Given the description of an element on the screen output the (x, y) to click on. 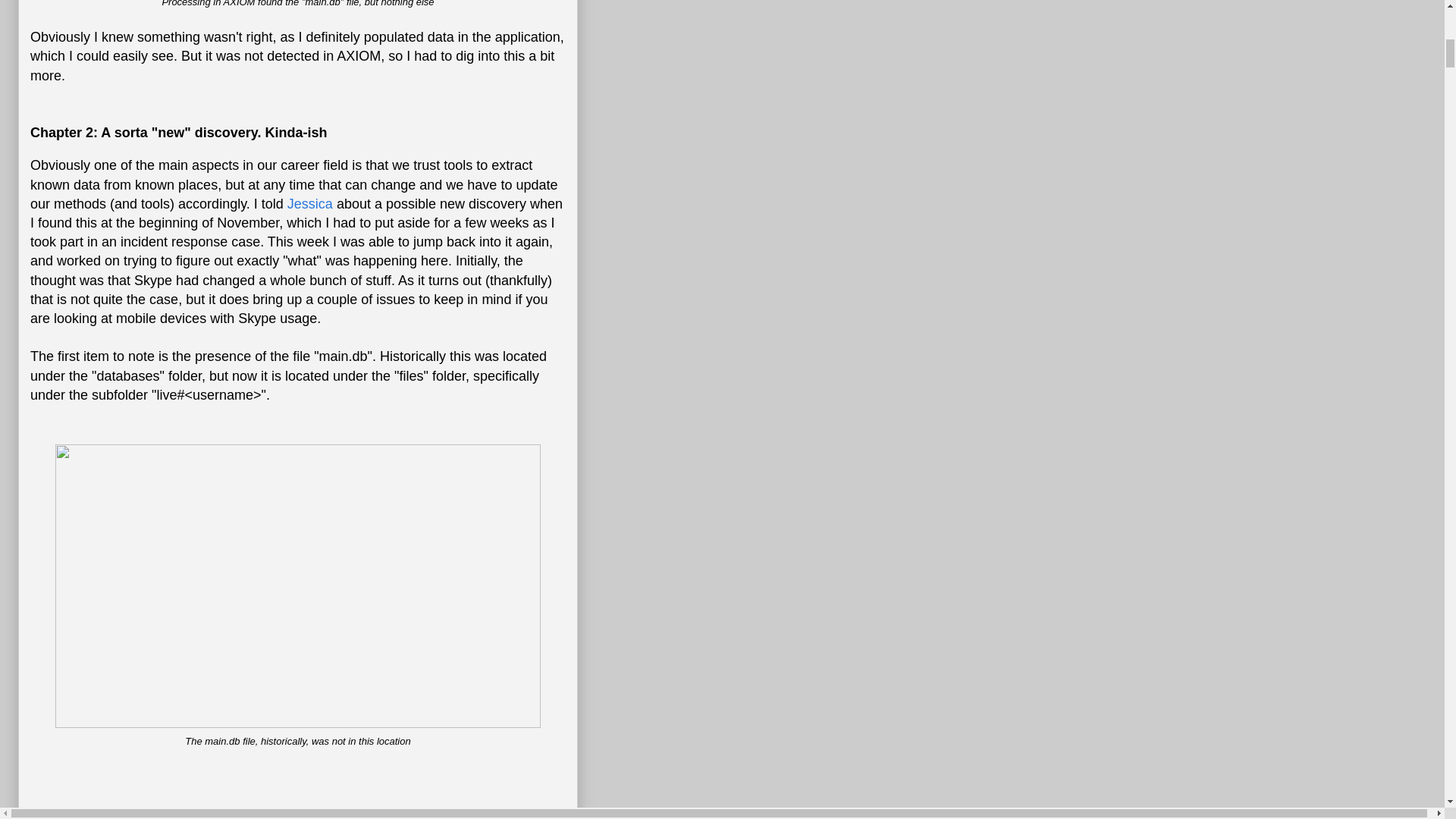
Jessica (309, 203)
